Given the description of an element on the screen output the (x, y) to click on. 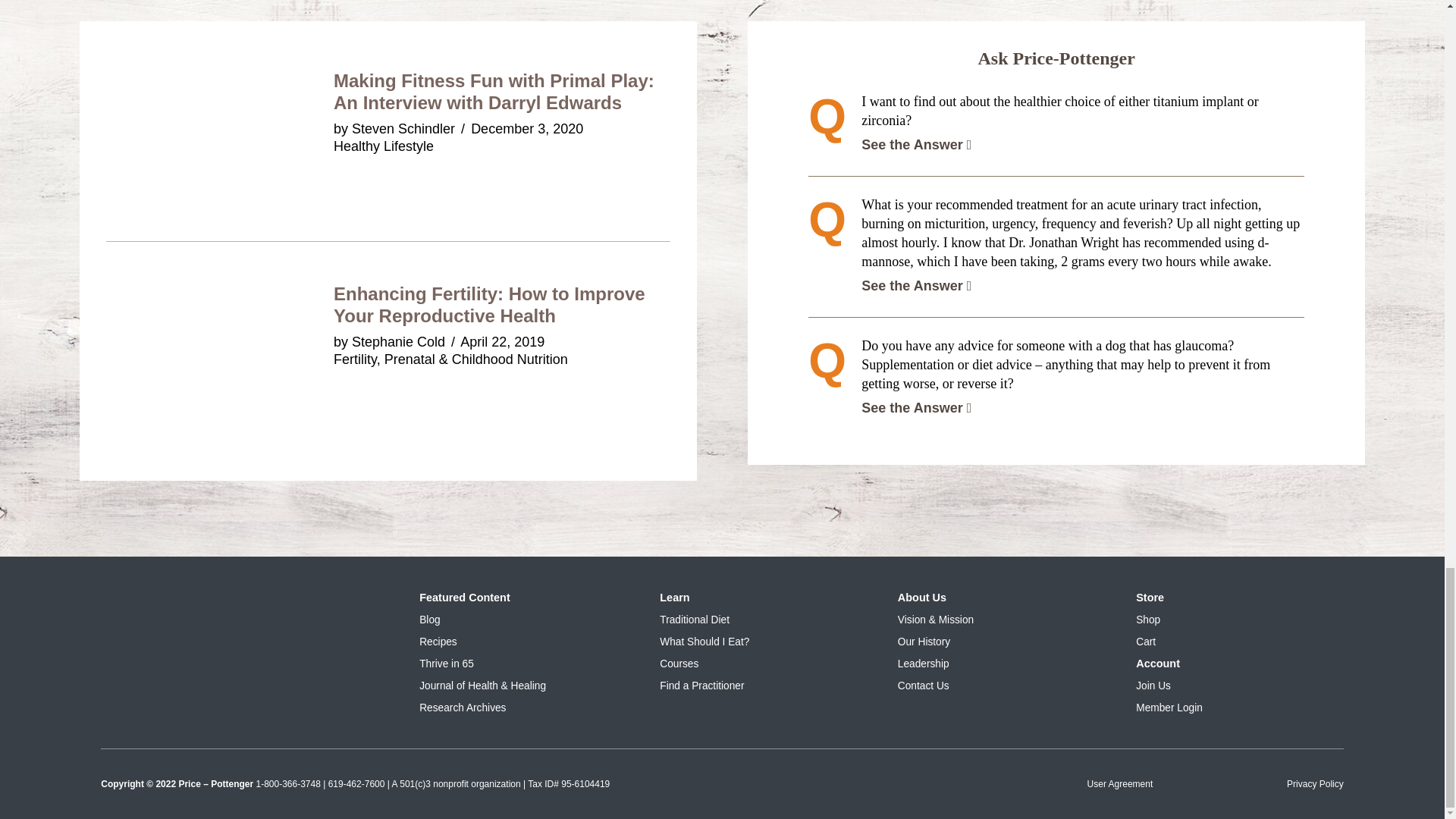
twitterWhiteLogo (125, 659)
ppWhiteLogo (244, 602)
Enhancing Fertility: How to Improve Your Reproductive Health (219, 442)
youtubeWhiteLogo (364, 658)
instagramWhiteLogo (204, 659)
facebookWhiteLogo (285, 659)
Enhancing Fertility: How to Improve Your Reproductive Health (489, 304)
